Given the description of an element on the screen output the (x, y) to click on. 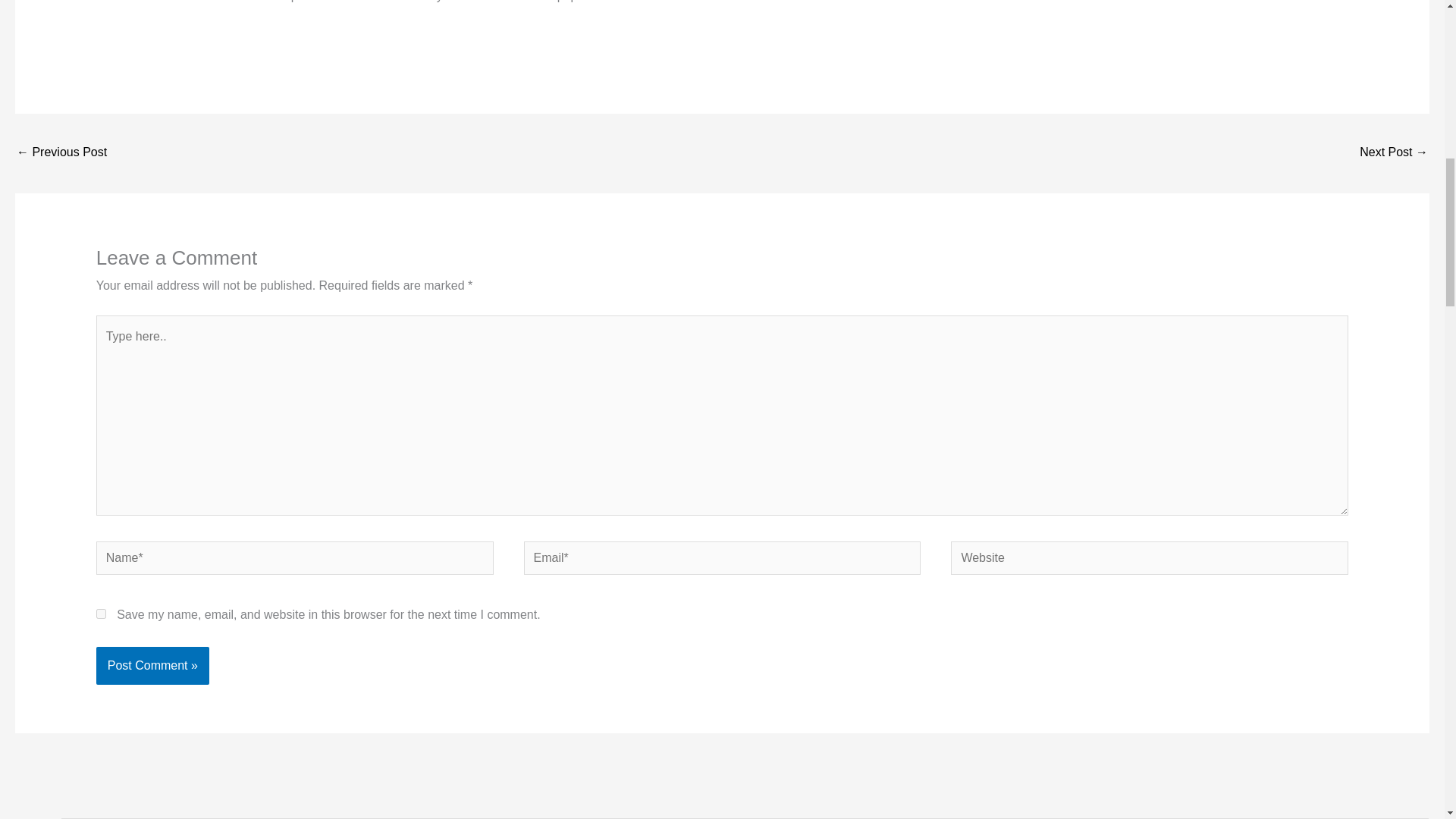
Tooth Decay Vaccine Under Development (61, 153)
The Benefits of Early Orthodontic Treatment (1393, 153)
yes (101, 613)
